Given the description of an element on the screen output the (x, y) to click on. 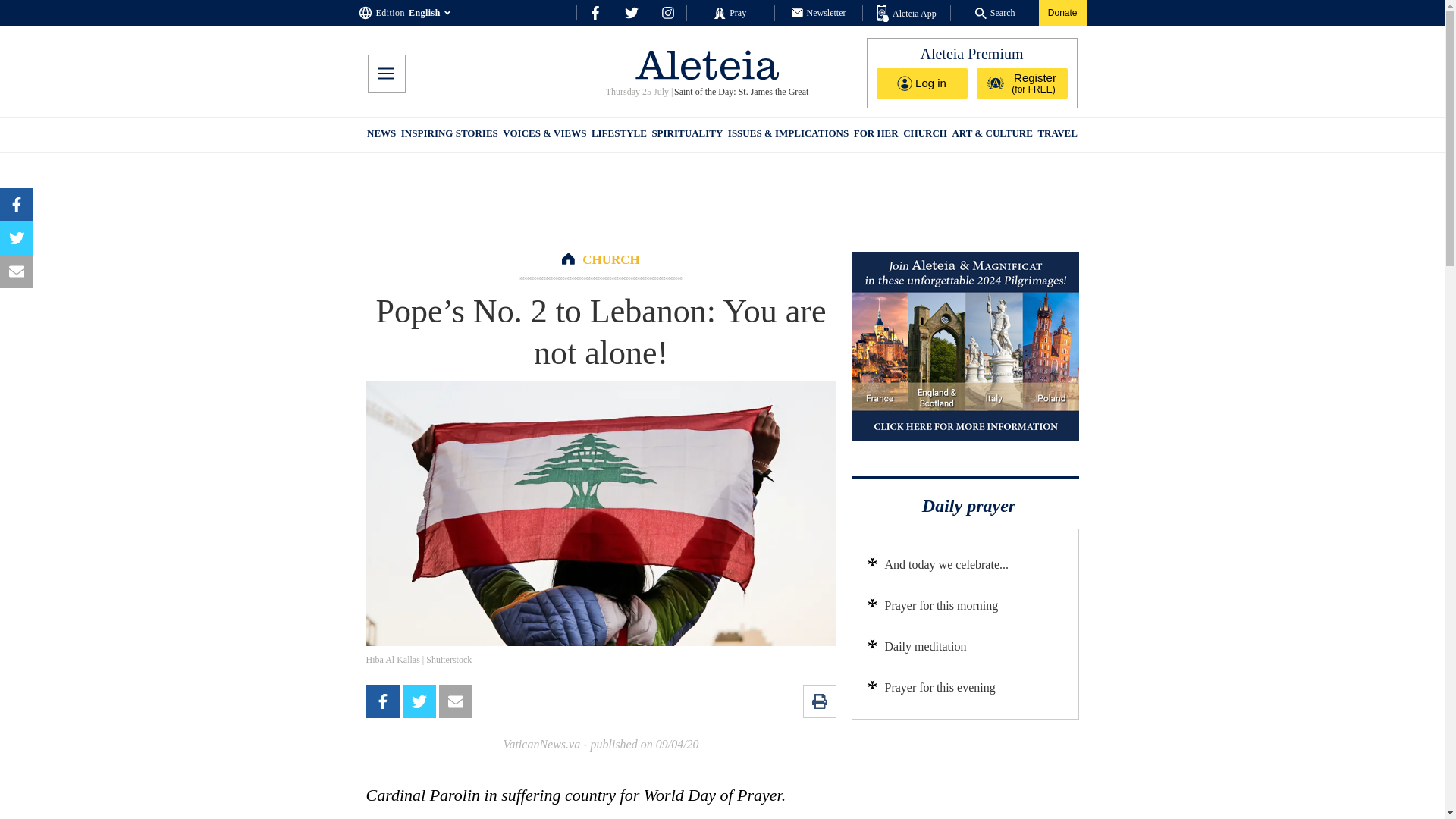
mobile-menu-btn (385, 73)
Search (994, 12)
Donate (1062, 12)
Log in (922, 82)
social-tw-top-row (631, 12)
LIFESTYLE (618, 134)
logo-header (706, 64)
SPIRITUALITY (686, 134)
social-ig-top-row (668, 12)
Pray (729, 12)
CHURCH (924, 134)
CHURCH (611, 259)
Newsletter (818, 12)
FOR HER (875, 134)
VaticanNews.va (540, 744)
